Given the description of an element on the screen output the (x, y) to click on. 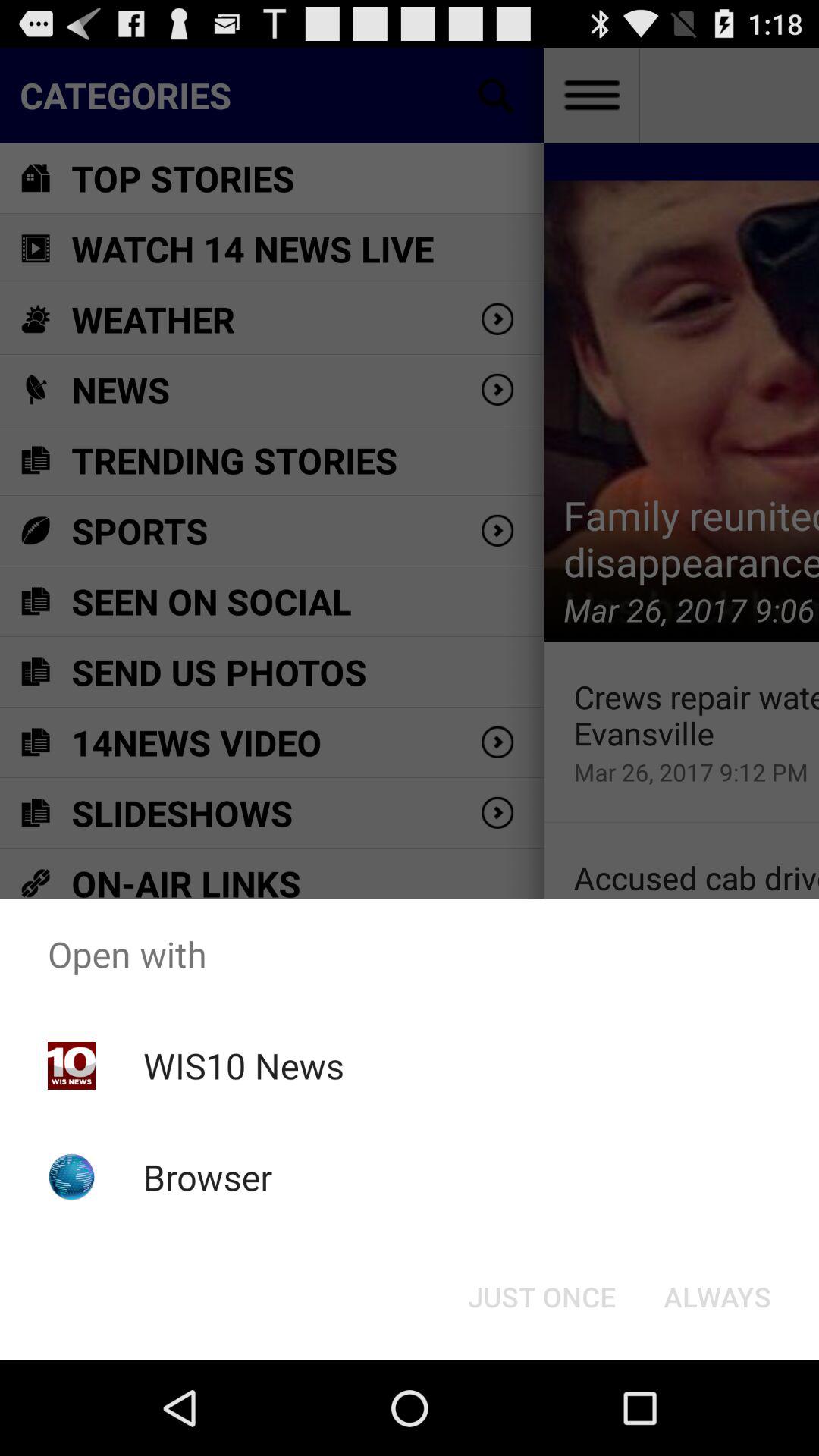
turn on wis10 news icon (243, 1065)
